Given the description of an element on the screen output the (x, y) to click on. 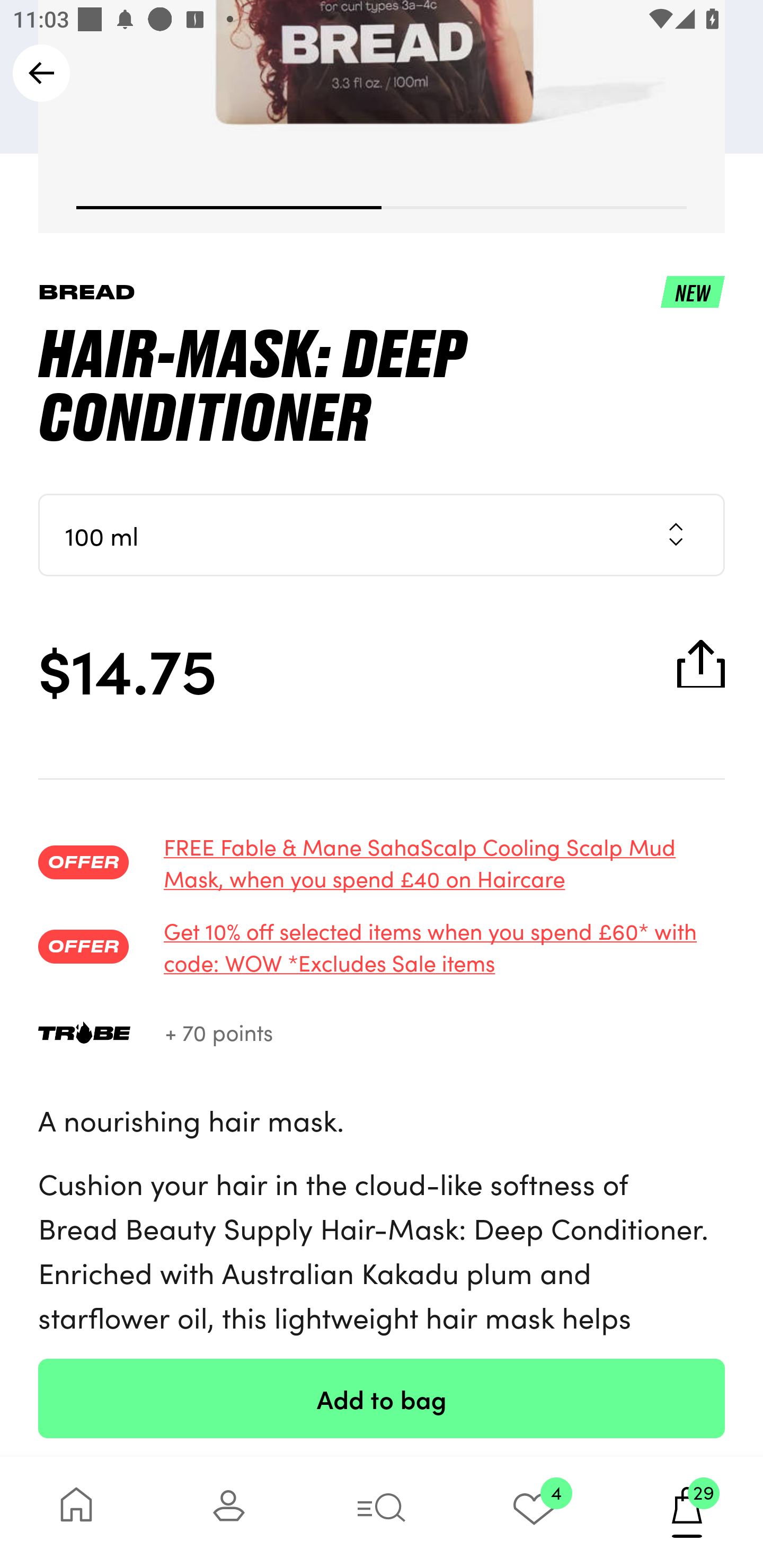
100 ml  (381, 535)
Add to bag (381, 1398)
4 (533, 1512)
29 (686, 1512)
